Given the description of an element on the screen output the (x, y) to click on. 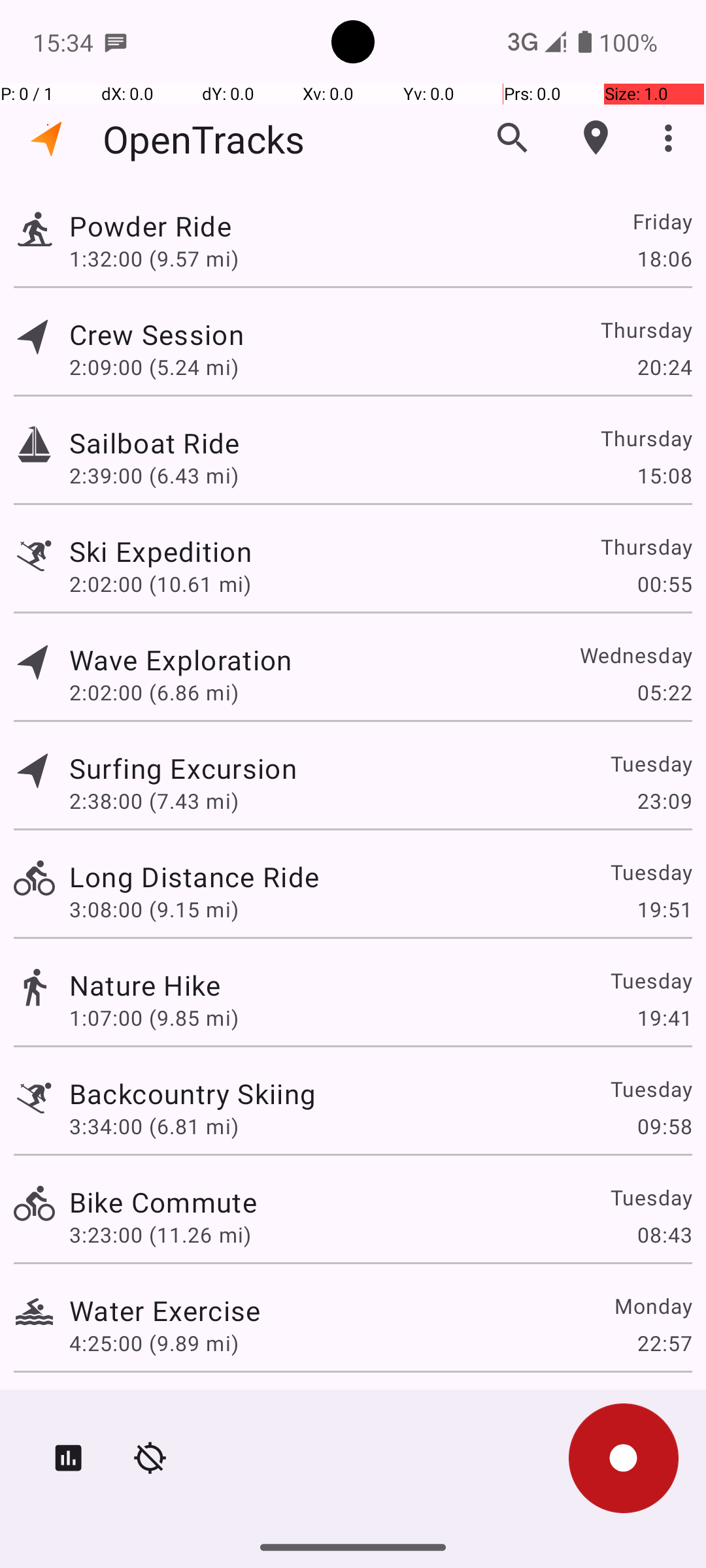
Record Element type: android.widget.ImageButton (623, 1458)
Track Element type: android.widget.ImageView (33, 227)
Powder Ride Element type: android.widget.TextView (150, 225)
Friday Element type: android.widget.TextView (661, 221)
1:32:00 (9.57 mi) Element type: android.widget.TextView (153, 258)
18:06 Element type: android.widget.TextView (664, 258)
Crew Session Element type: android.widget.TextView (156, 333)
Thursday Element type: android.widget.TextView (645, 329)
2:09:00 (5.24 mi) Element type: android.widget.TextView (153, 366)
20:24 Element type: android.widget.TextView (664, 366)
Sailboat Ride Element type: android.widget.TextView (154, 442)
2:39:00 (6.43 mi) Element type: android.widget.TextView (153, 475)
15:08 Element type: android.widget.TextView (664, 475)
Ski Expedition Element type: android.widget.TextView (160, 550)
2:02:00 (10.61 mi) Element type: android.widget.TextView (159, 583)
00:55 Element type: android.widget.TextView (664, 583)
Wave Exploration Element type: android.widget.TextView (180, 659)
Wednesday Element type: android.widget.TextView (635, 654)
2:02:00 (6.86 mi) Element type: android.widget.TextView (153, 692)
05:22 Element type: android.widget.TextView (664, 692)
Surfing Excursion Element type: android.widget.TextView (182, 767)
Tuesday Element type: android.widget.TextView (650, 763)
2:38:00 (7.43 mi) Element type: android.widget.TextView (153, 800)
23:09 Element type: android.widget.TextView (664, 800)
Long Distance Ride Element type: android.widget.TextView (193, 876)
3:08:00 (9.15 mi) Element type: android.widget.TextView (153, 909)
19:51 Element type: android.widget.TextView (664, 909)
Nature Hike Element type: android.widget.TextView (144, 984)
1:07:00 (9.85 mi) Element type: android.widget.TextView (153, 1017)
19:41 Element type: android.widget.TextView (664, 1017)
Backcountry Skiing Element type: android.widget.TextView (192, 1092)
3:34:00 (6.81 mi) Element type: android.widget.TextView (153, 1125)
09:58 Element type: android.widget.TextView (664, 1125)
Bike Commute Element type: android.widget.TextView (162, 1201)
3:23:00 (11.26 mi) Element type: android.widget.TextView (159, 1234)
08:43 Element type: android.widget.TextView (664, 1234)
Water Exercise Element type: android.widget.TextView (164, 1309)
Monday Element type: android.widget.TextView (652, 1305)
4:25:00 (9.89 mi) Element type: android.widget.TextView (153, 1342)
22:57 Element type: android.widget.TextView (664, 1342)
Lunch Break Fitness Element type: android.widget.TextView (199, 1408)
7 Oct Element type: android.widget.TextView (665, 1408)
